Given the description of an element on the screen output the (x, y) to click on. 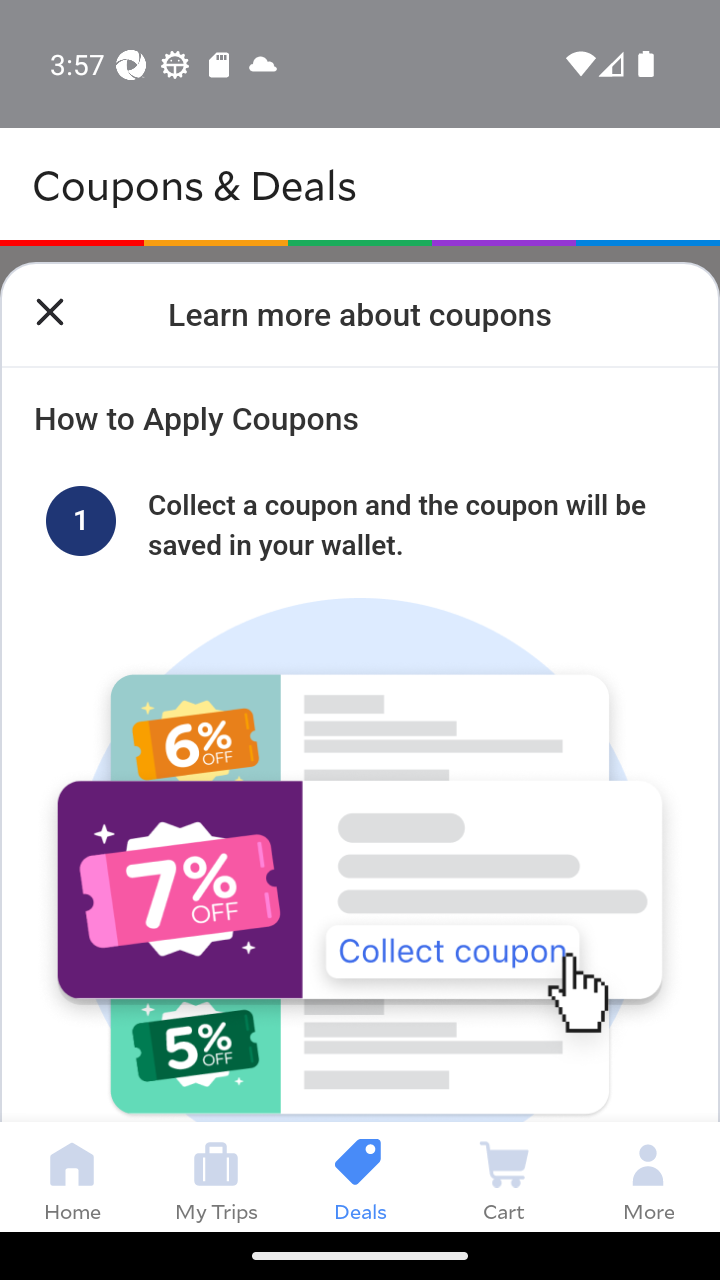
Home (72, 1176)
My Trips (216, 1176)
Deals (360, 1176)
Cart (504, 1176)
More (648, 1176)
